Given the description of an element on the screen output the (x, y) to click on. 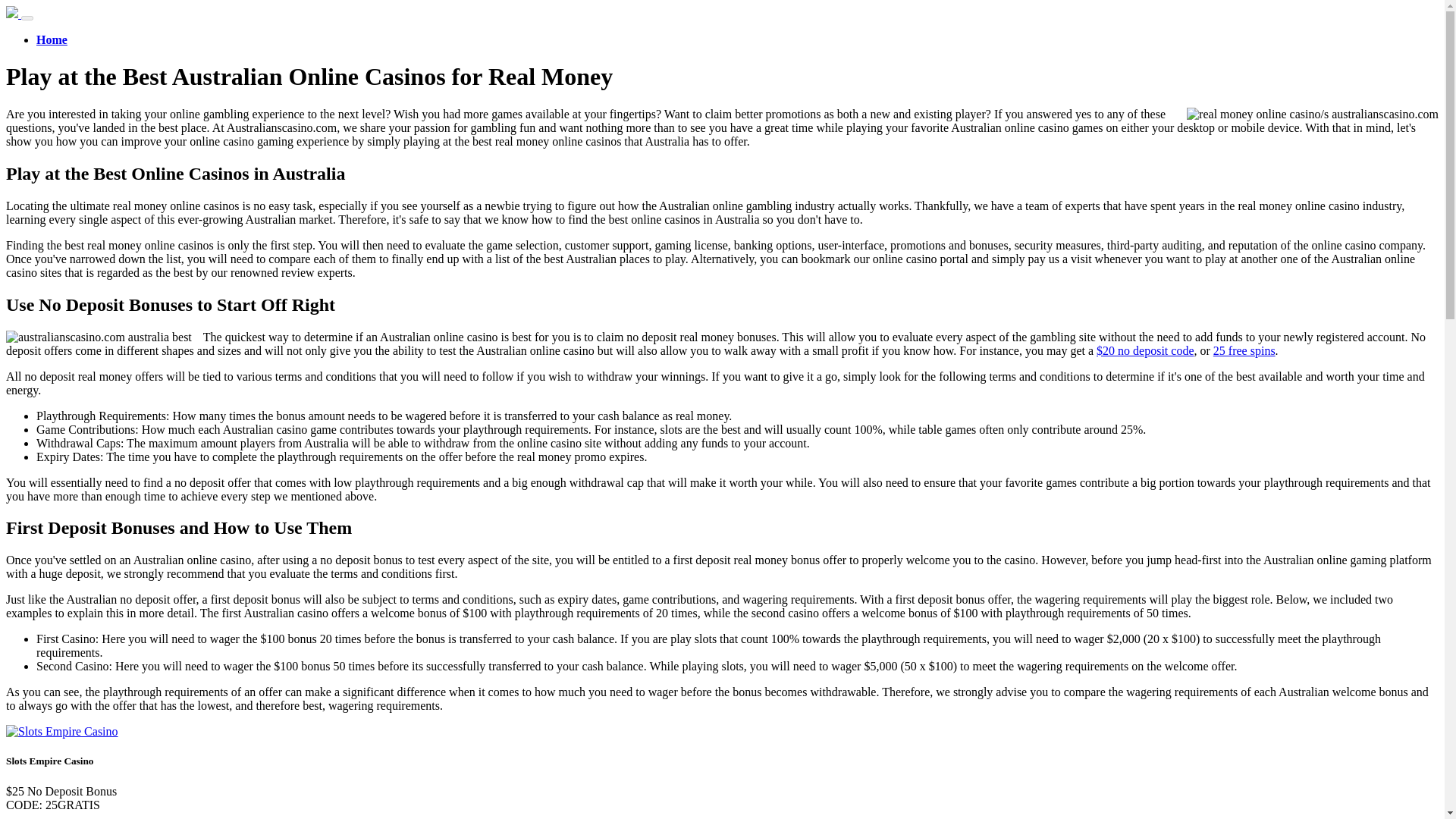
Home (51, 39)
Slots Empire Casino (61, 731)
25 free spins (1243, 350)
